Given the description of an element on the screen output the (x, y) to click on. 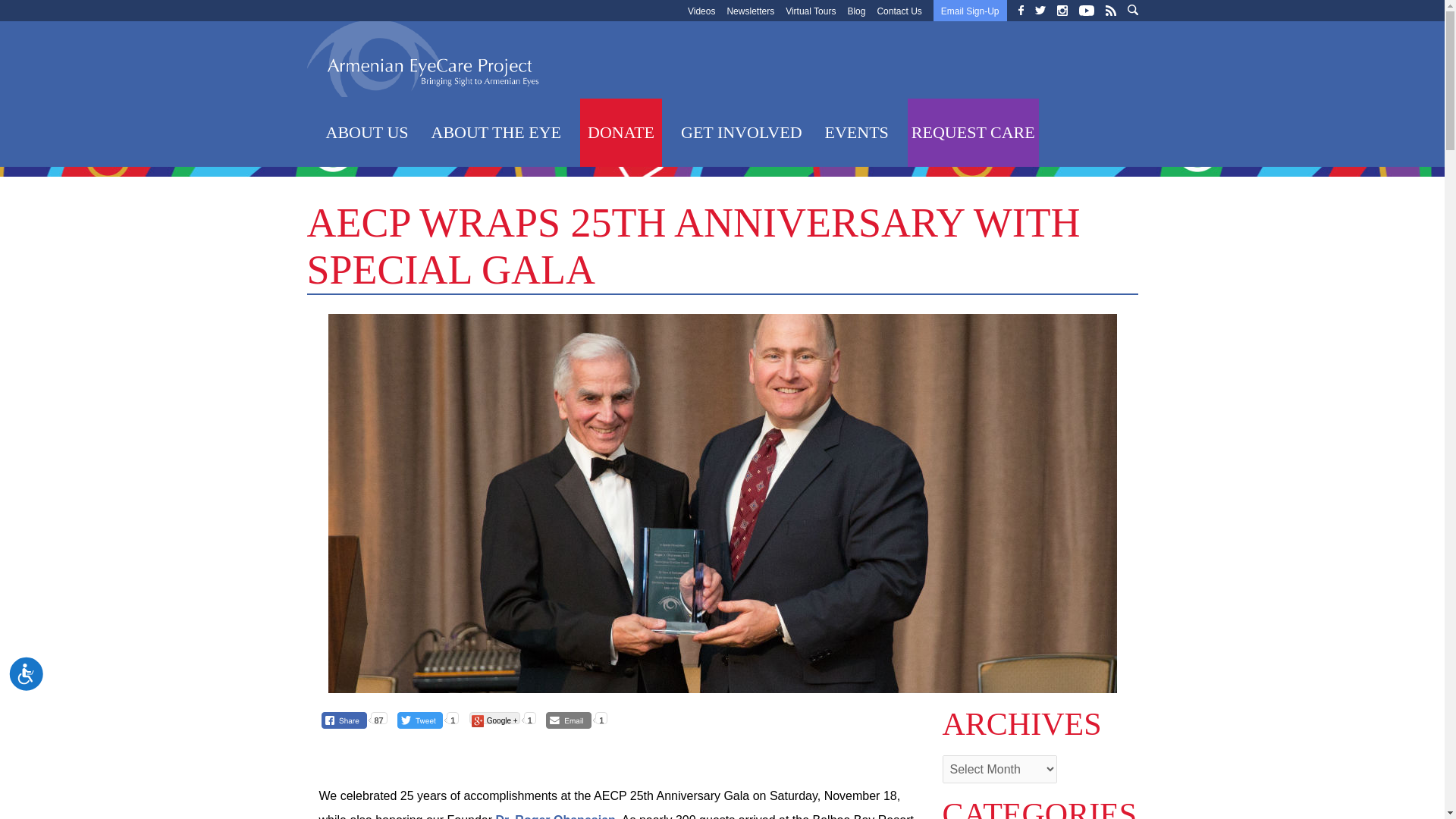
Newsletters (750, 10)
Accessibility (41, 689)
Blog (855, 10)
Videos (700, 10)
Email Sign-Up (969, 10)
Contact Us (898, 10)
Virtual Tours (810, 10)
ABOUT US (366, 132)
